Given the description of an element on the screen output the (x, y) to click on. 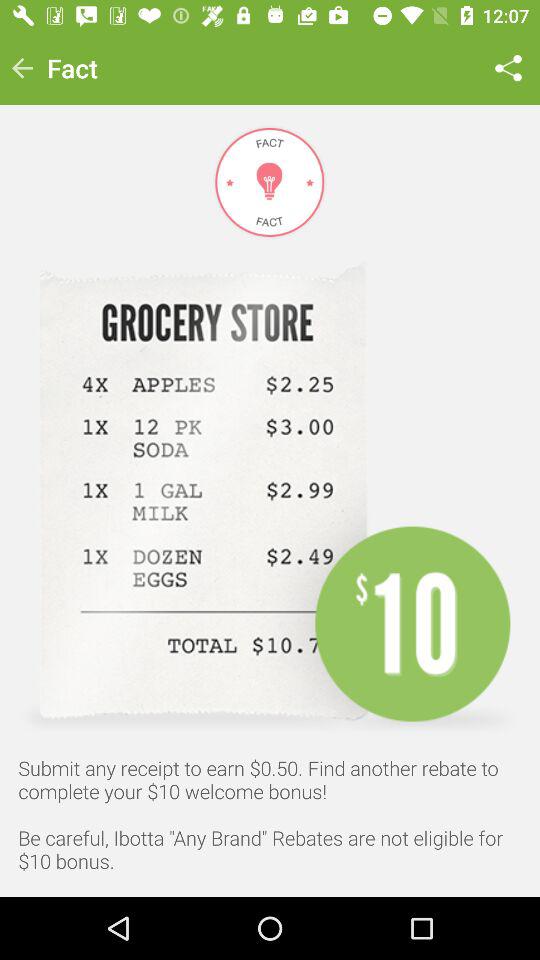
flip to the fact icon (72, 67)
